Given the description of an element on the screen output the (x, y) to click on. 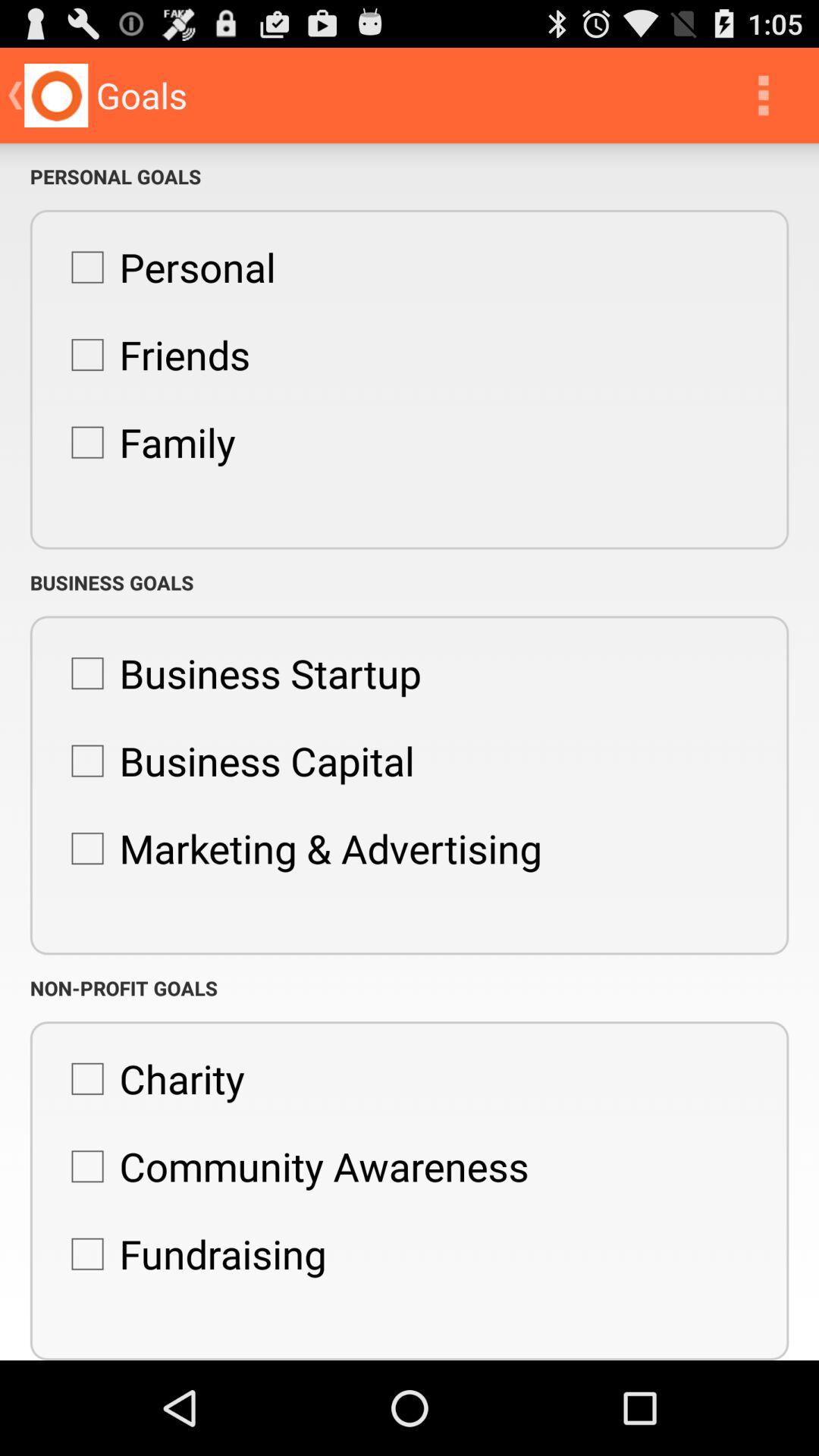
choose icon below the non-profit goals app (149, 1078)
